Given the description of an element on the screen output the (x, y) to click on. 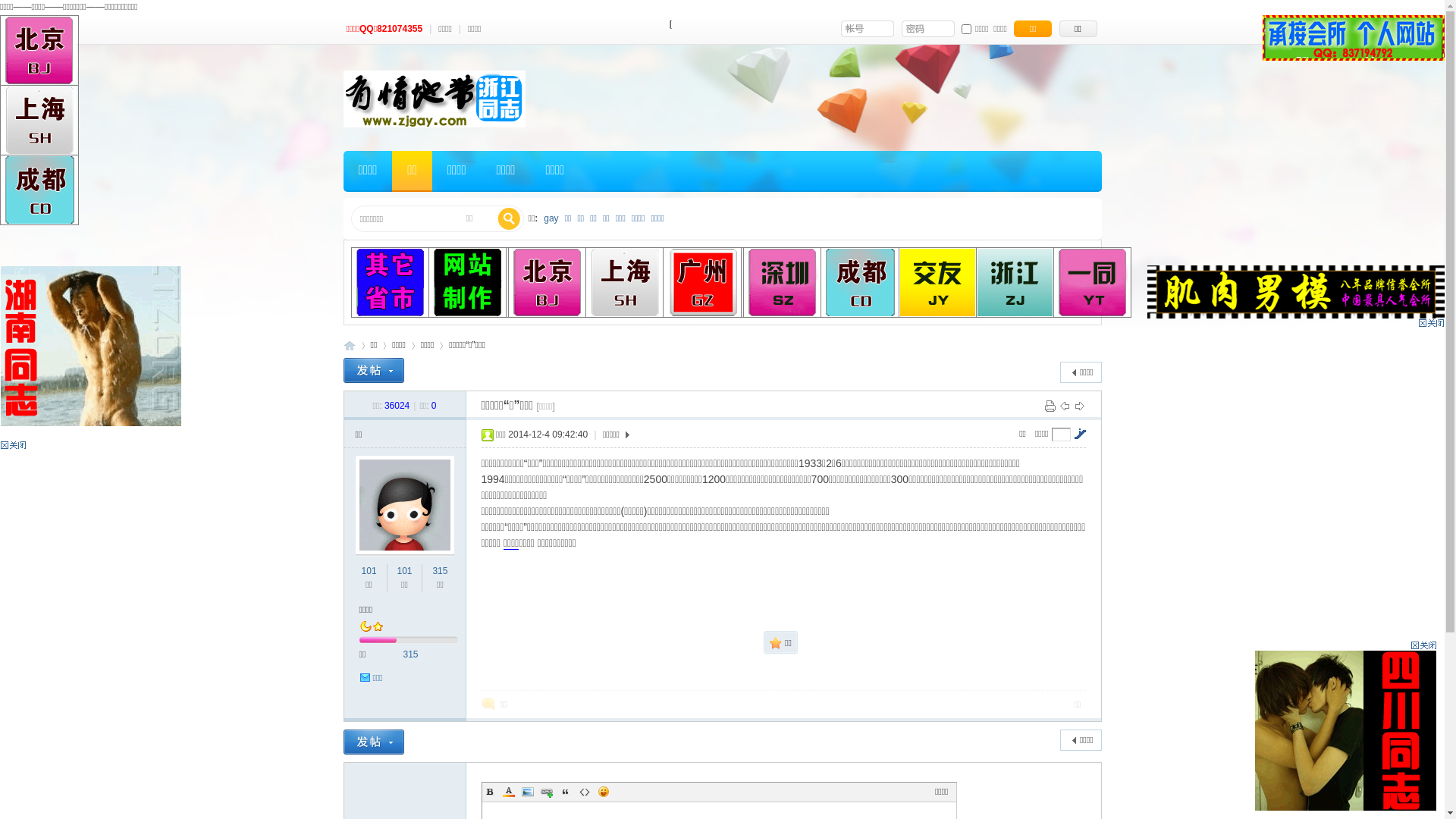
101 Element type: text (368, 570)
Image Element type: text (527, 791)
315 Element type: text (439, 570)
true Element type: text (508, 218)
315 Element type: text (410, 654)
Smilies Element type: text (603, 791)
B Element type: text (489, 791)
Color Element type: text (507, 791)
Link Element type: text (545, 791)
101 Element type: text (403, 570)
gay Element type: text (550, 218)
Code Element type: text (583, 791)
Quote Element type: text (565, 791)
